Given the description of an element on the screen output the (x, y) to click on. 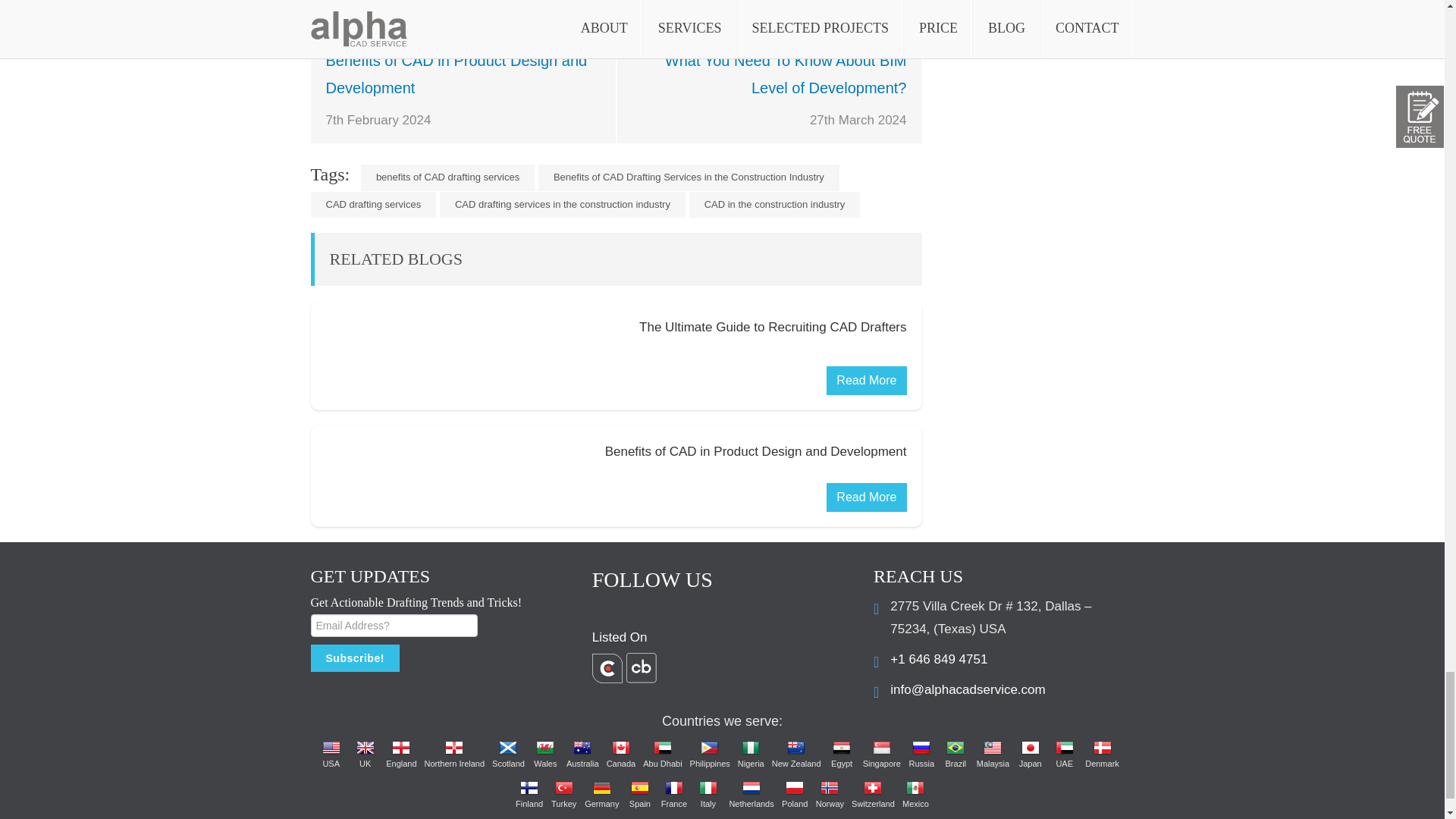
Twitter (349, 0)
Reddit (375, 0)
Mix (426, 0)
BPO Outsourcing and Data Processing United Kingdom UK (365, 747)
Linkedin (401, 0)
Subscribe! (354, 657)
Whatsapp (452, 0)
Email Address? (394, 625)
Facebook (323, 0)
